Given the description of an element on the screen output the (x, y) to click on. 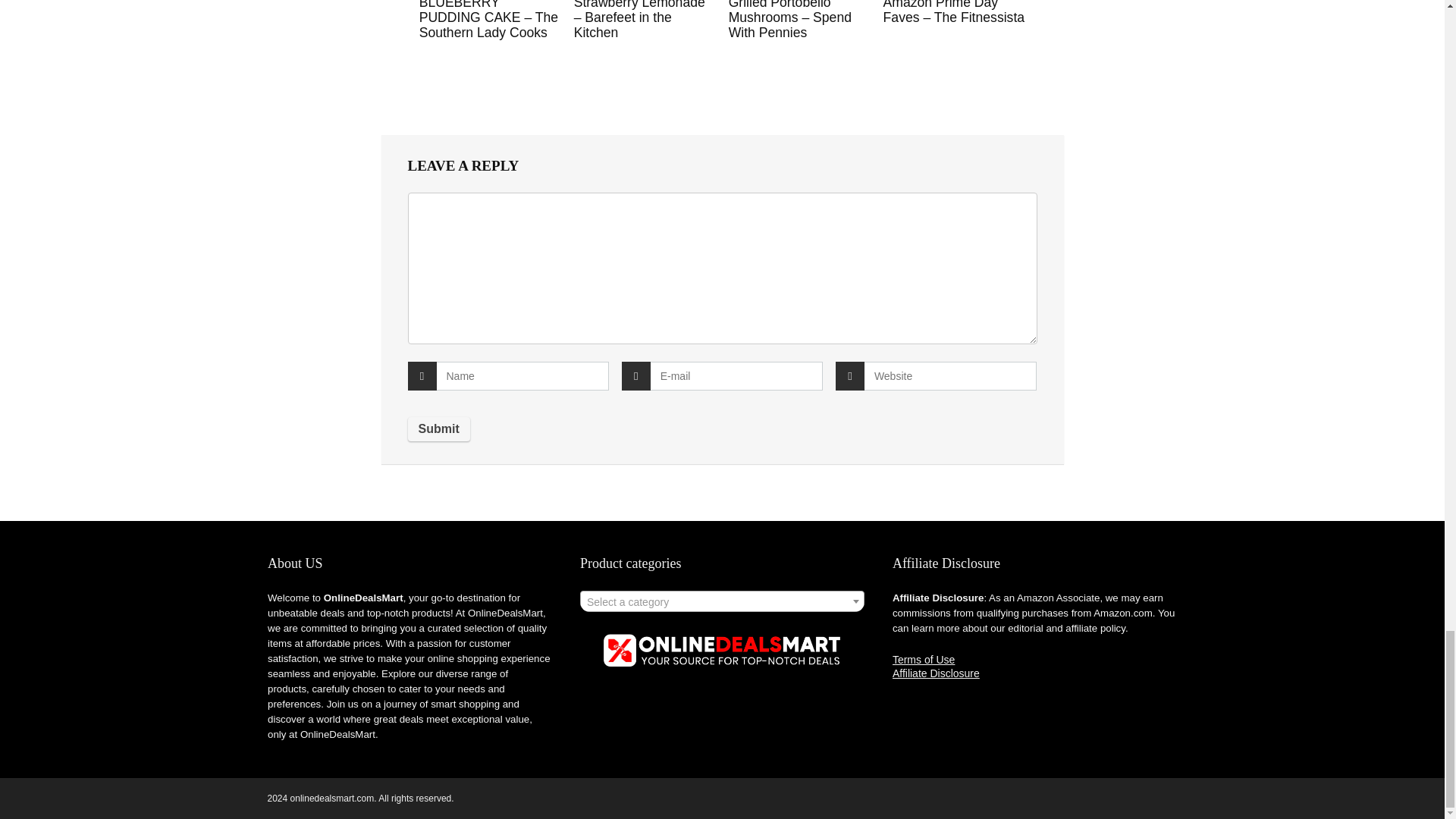
Submit (438, 428)
